Given the description of an element on the screen output the (x, y) to click on. 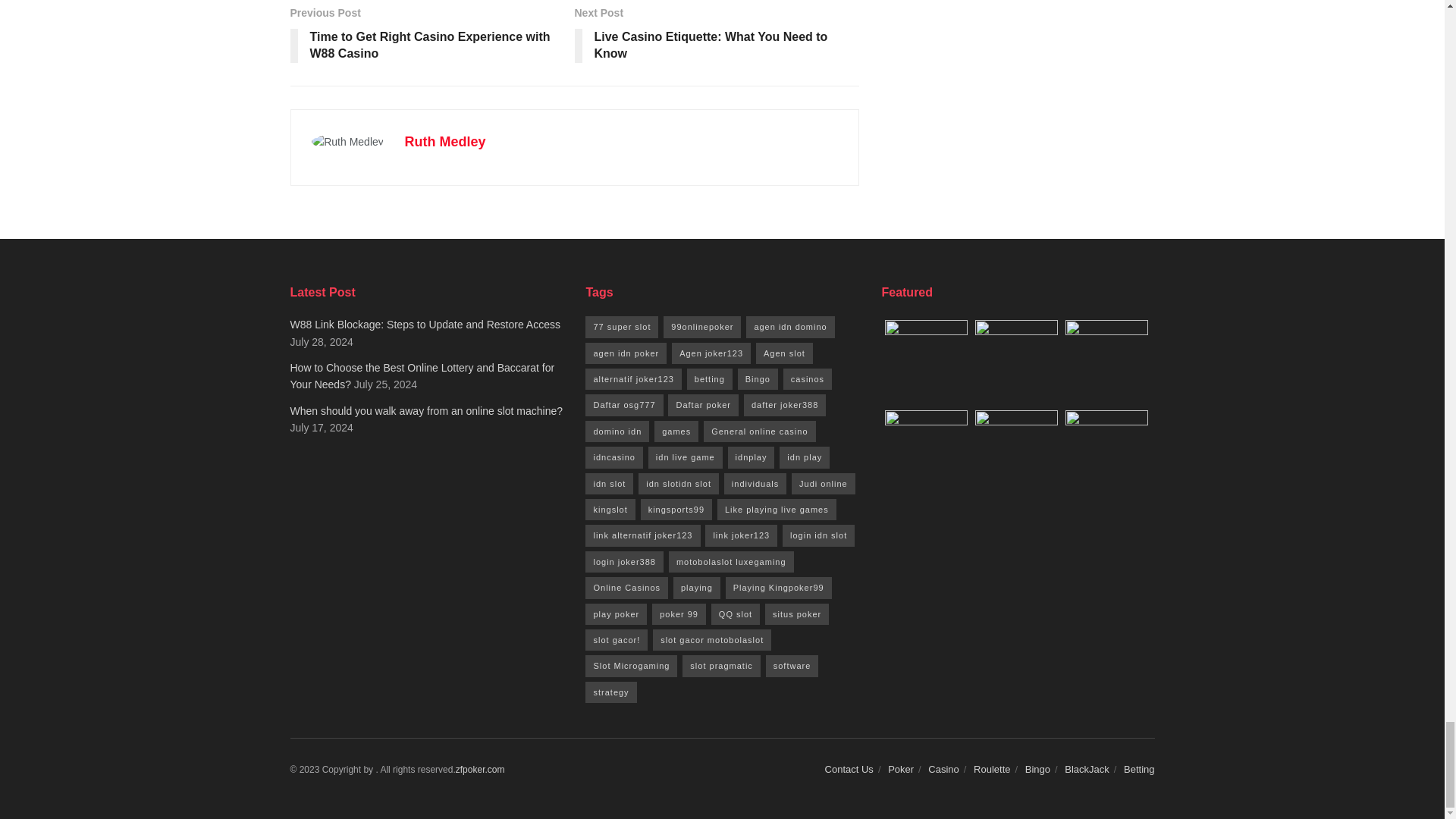
Ruth Medley (445, 141)
Jegtheme (480, 769)
